Given the description of an element on the screen output the (x, y) to click on. 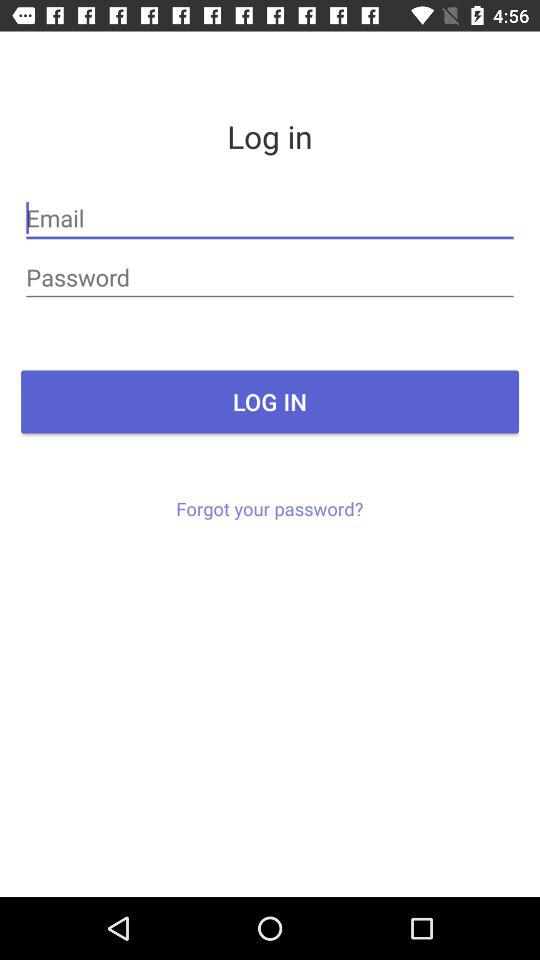
email entry field (270, 218)
